Given the description of an element on the screen output the (x, y) to click on. 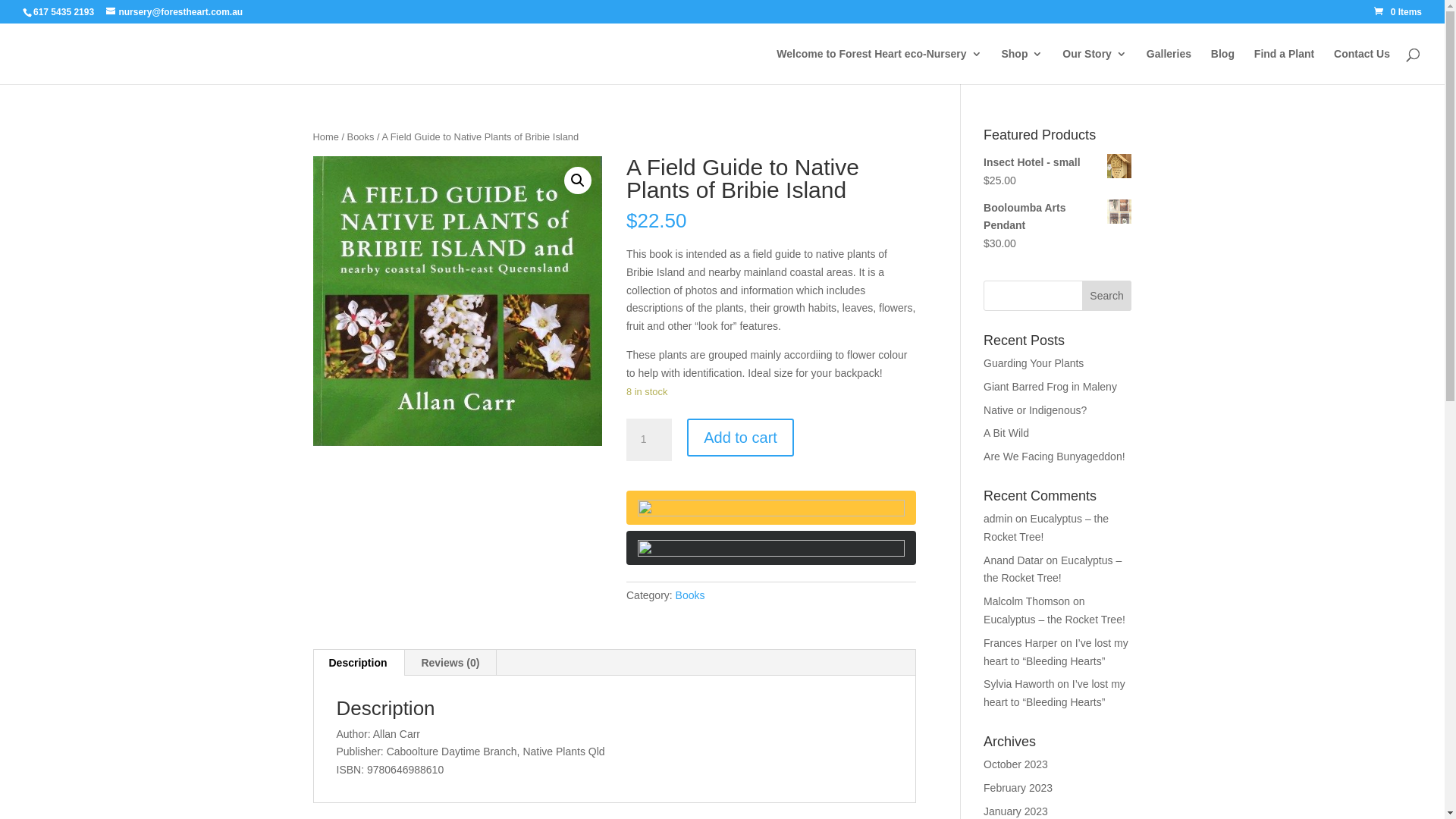
Galleries Element type: text (1168, 66)
Giant Barred Frog in Maleny Element type: text (1050, 386)
Welcome to Forest Heart eco-Nursery Element type: text (878, 66)
Find a Plant Element type: text (1284, 66)
Booloumba Arts Pendant Element type: text (1057, 217)
Reviews (0) Element type: text (449, 662)
Our Story Element type: text (1094, 66)
nursery@forestheart.com.au Element type: text (174, 11)
0 Items Element type: text (1397, 11)
Books Element type: text (690, 595)
October 2023 Element type: text (1015, 764)
January 2023 Element type: text (1015, 811)
Blog Element type: text (1222, 66)
Search Element type: text (1107, 295)
Shop Element type: text (1021, 66)
Description Element type: text (358, 662)
PayPal Element type: hover (771, 547)
Guarding Your Plants Element type: text (1033, 363)
Books Element type: text (360, 136)
Home Element type: text (325, 136)
allan.carr1 Element type: hover (457, 300)
Are We Facing Bunyageddon! Element type: text (1054, 456)
Insect Hotel - small Element type: text (1057, 162)
Native or Indigenous? Element type: text (1034, 410)
February 2023 Element type: text (1017, 787)
PayPal Element type: hover (771, 507)
Add to cart Element type: text (740, 437)
A Bit Wild Element type: text (1006, 432)
Contact Us Element type: text (1361, 66)
